Given the description of an element on the screen output the (x, y) to click on. 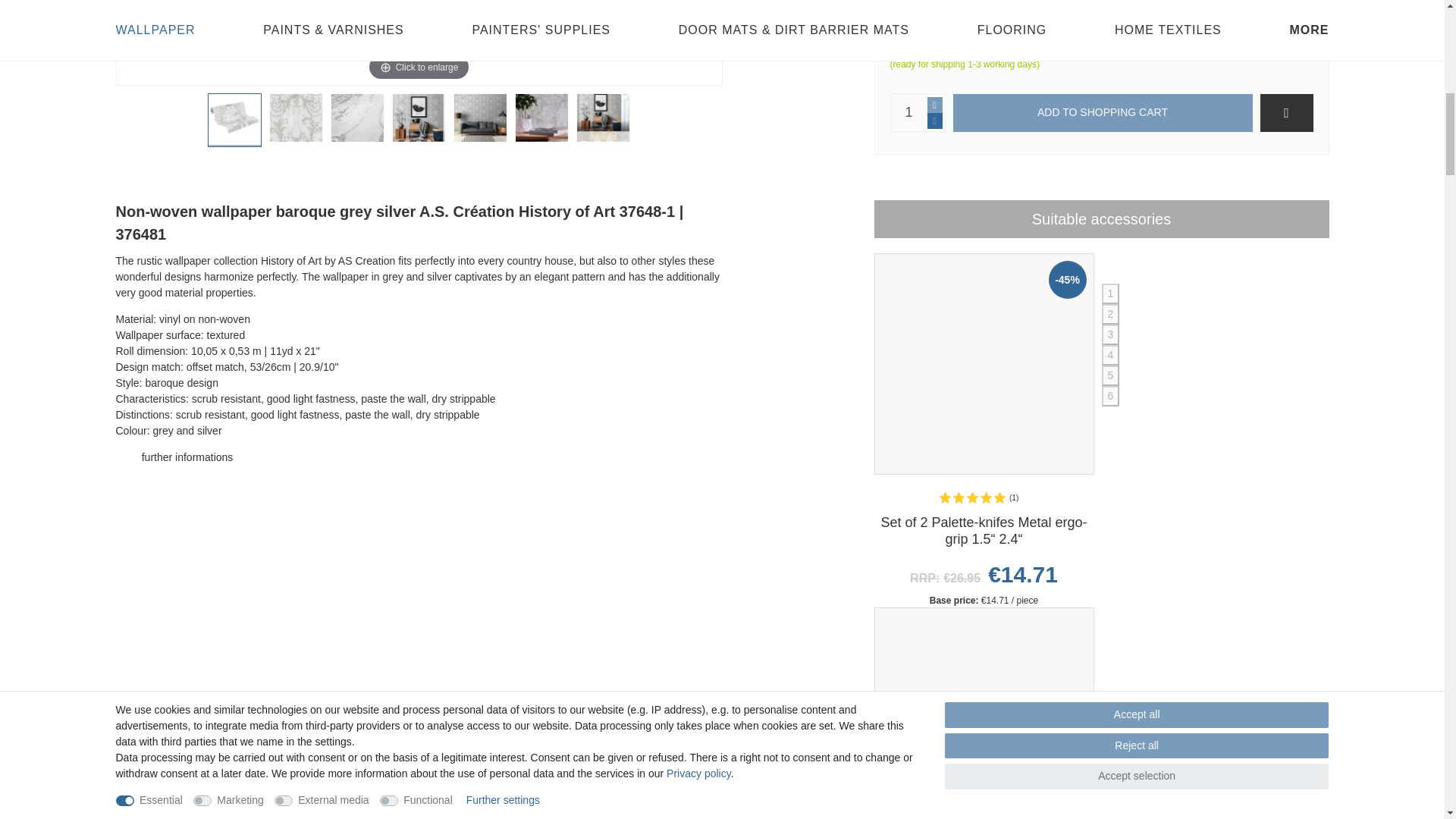
 4 (418, 123)
 5 (480, 123)
 6 (541, 123)
 1 (233, 123)
 7 (602, 123)
Click to enlarge (419, 42)
 3 (357, 123)
 2 (295, 123)
